Given the description of an element on the screen output the (x, y) to click on. 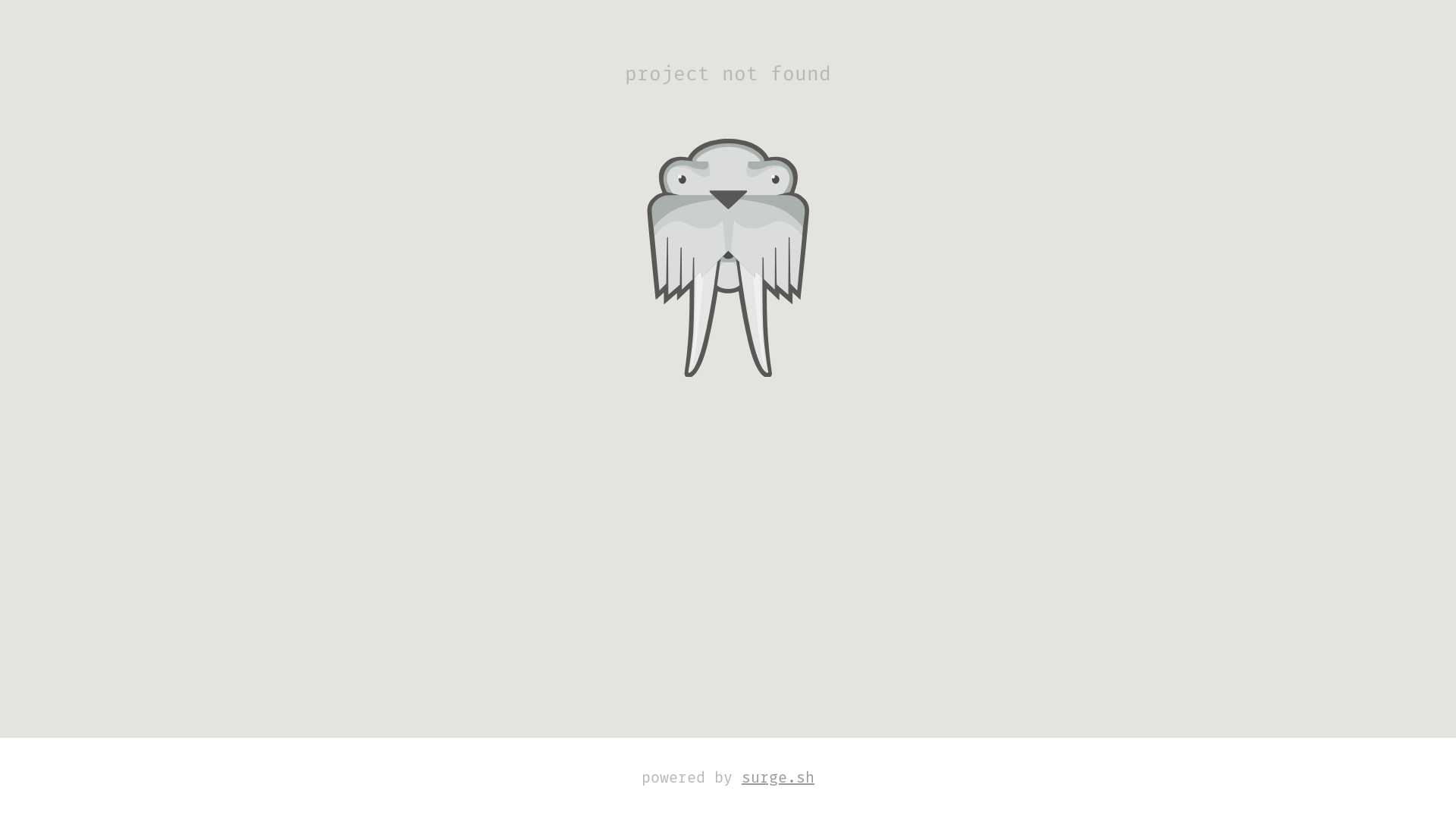
surge.sh Element type: text (777, 777)
